Given the description of an element on the screen output the (x, y) to click on. 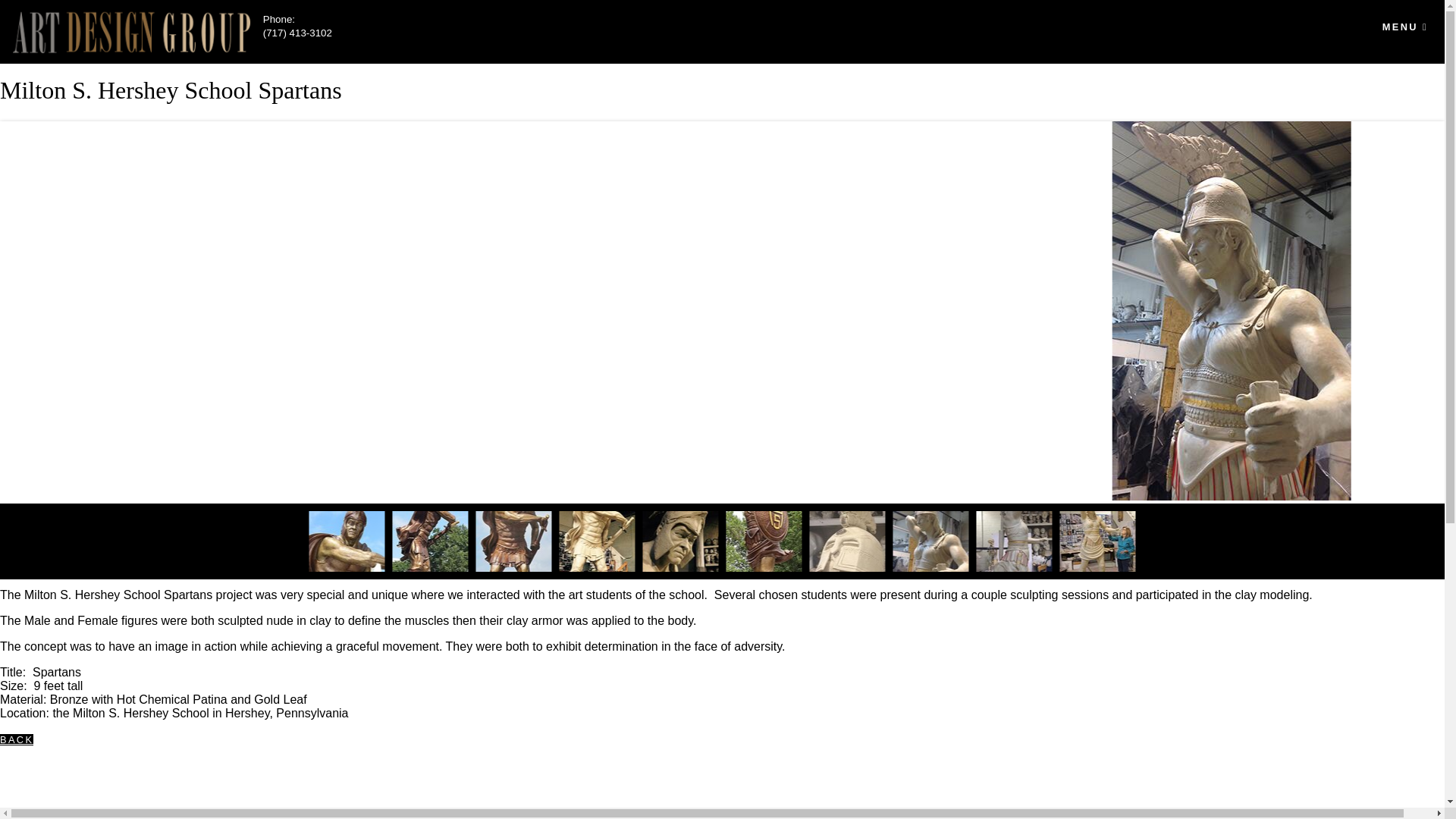
MENU (1404, 26)
BACK (16, 739)
